Given the description of an element on the screen output the (x, y) to click on. 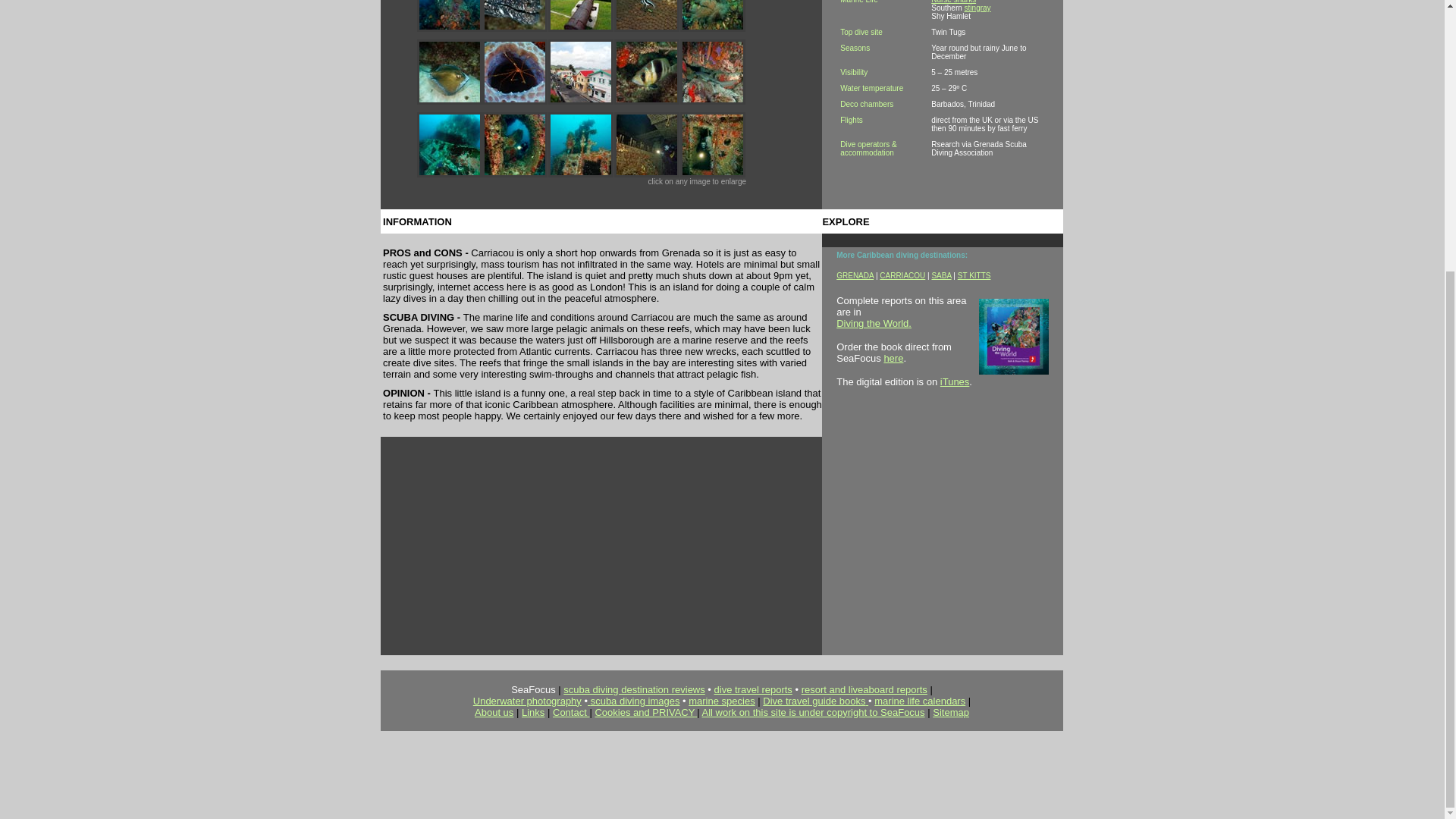
Hillsborough: carriacou08 (580, 100)
Juvenile drum: carriacou04 (646, 27)
Nurse shark: carriacou10 (712, 100)
Diving the World (871, 323)
scuba diving images (635, 700)
Nurse sharks (953, 2)
marine life calendars (920, 700)
Sister Rocks: carriacou05 (712, 27)
Twin Tugs: carriacou15 (712, 173)
Links (532, 711)
stingray (977, 8)
About us (493, 711)
Shy Hamlet: carriacou09 (646, 100)
dive travel reports (753, 688)
Arrow crab: carriacou07 (514, 100)
